Given the description of an element on the screen output the (x, y) to click on. 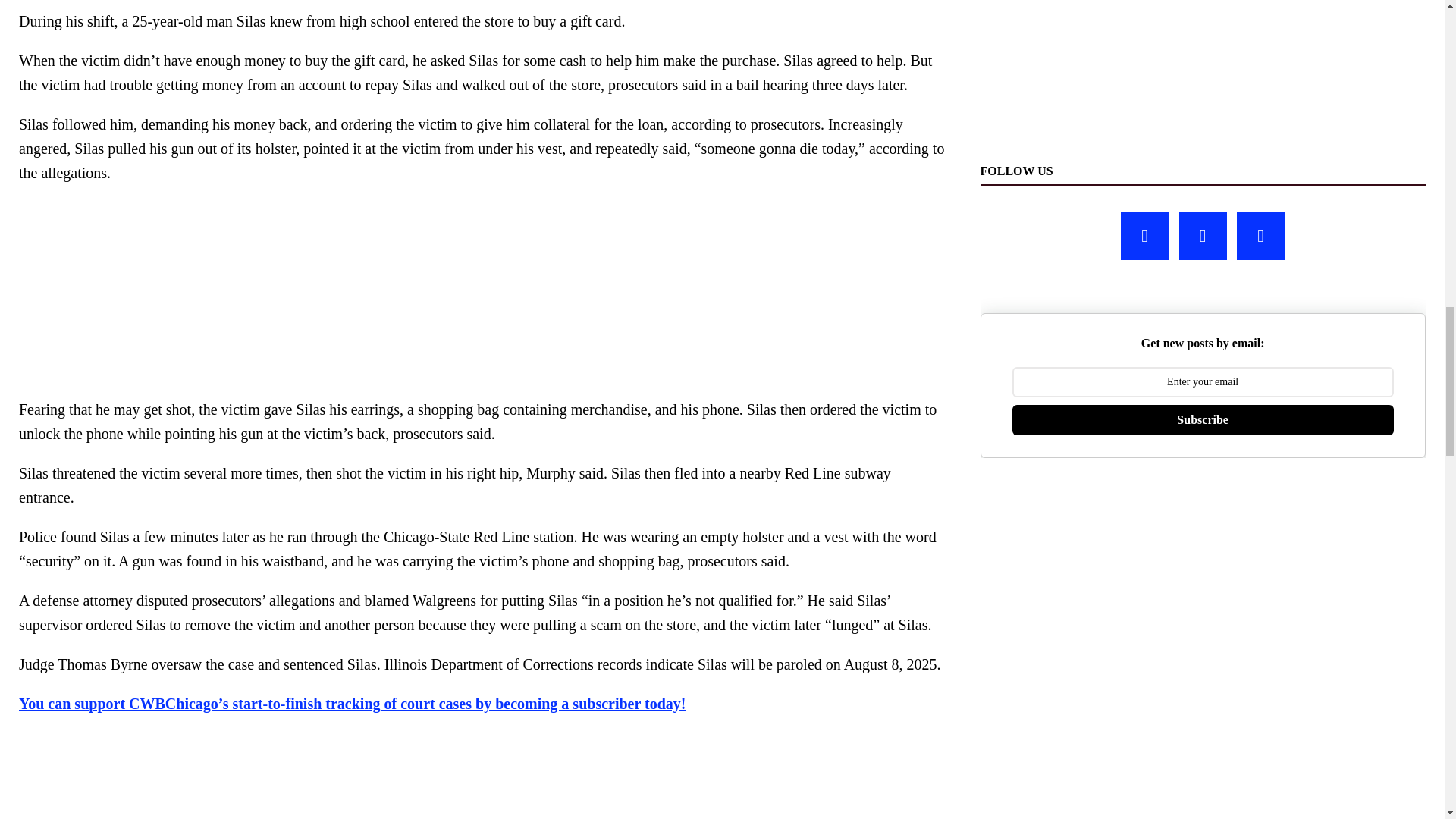
Subscribe (1202, 419)
